Given the description of an element on the screen output the (x, y) to click on. 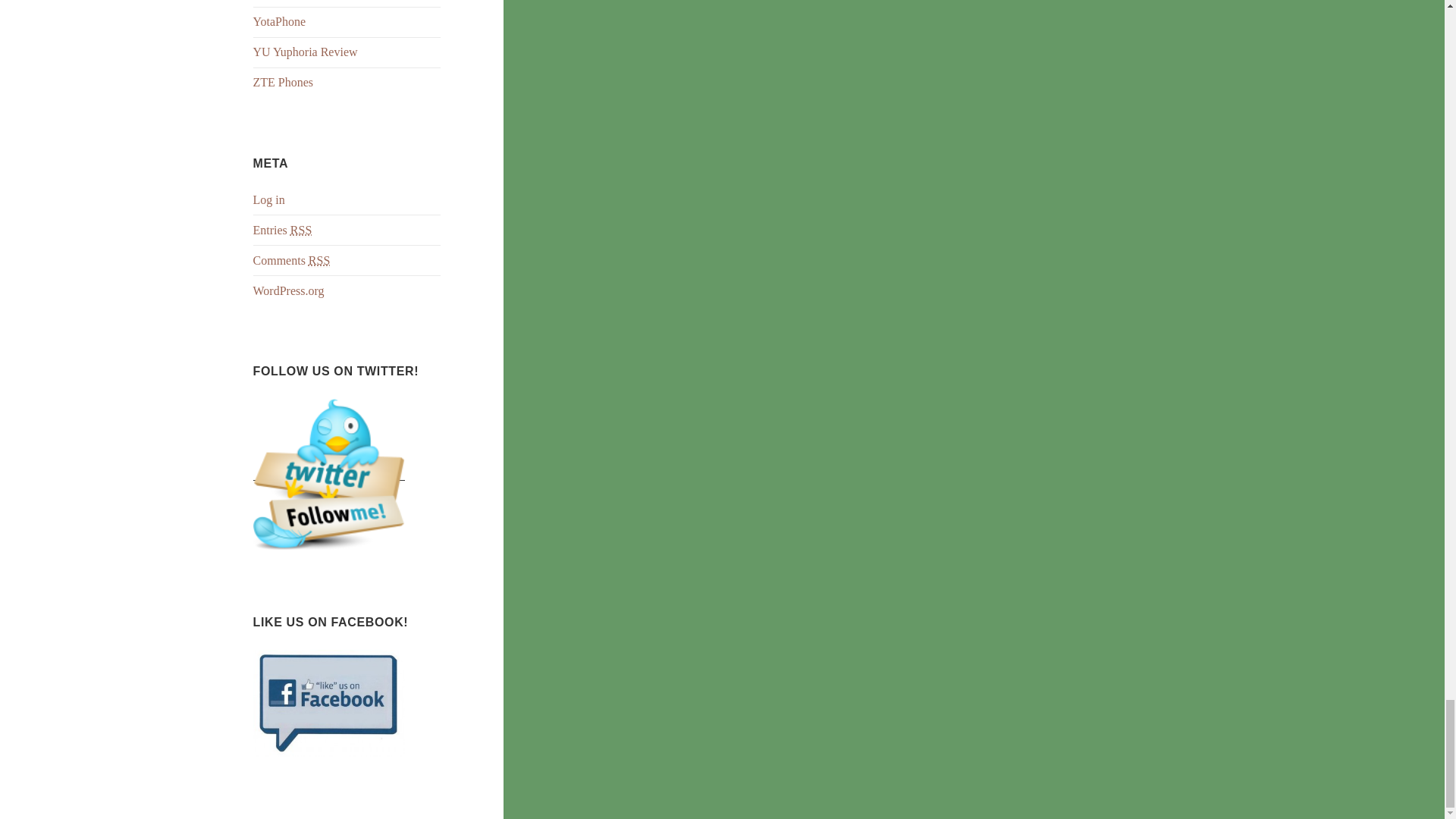
Like Government Cell Phone on Facebook (328, 702)
Follow Government Cell on Twitter (328, 473)
Really Simple Syndication (300, 230)
Really Simple Syndication (319, 260)
